Given the description of an element on the screen output the (x, y) to click on. 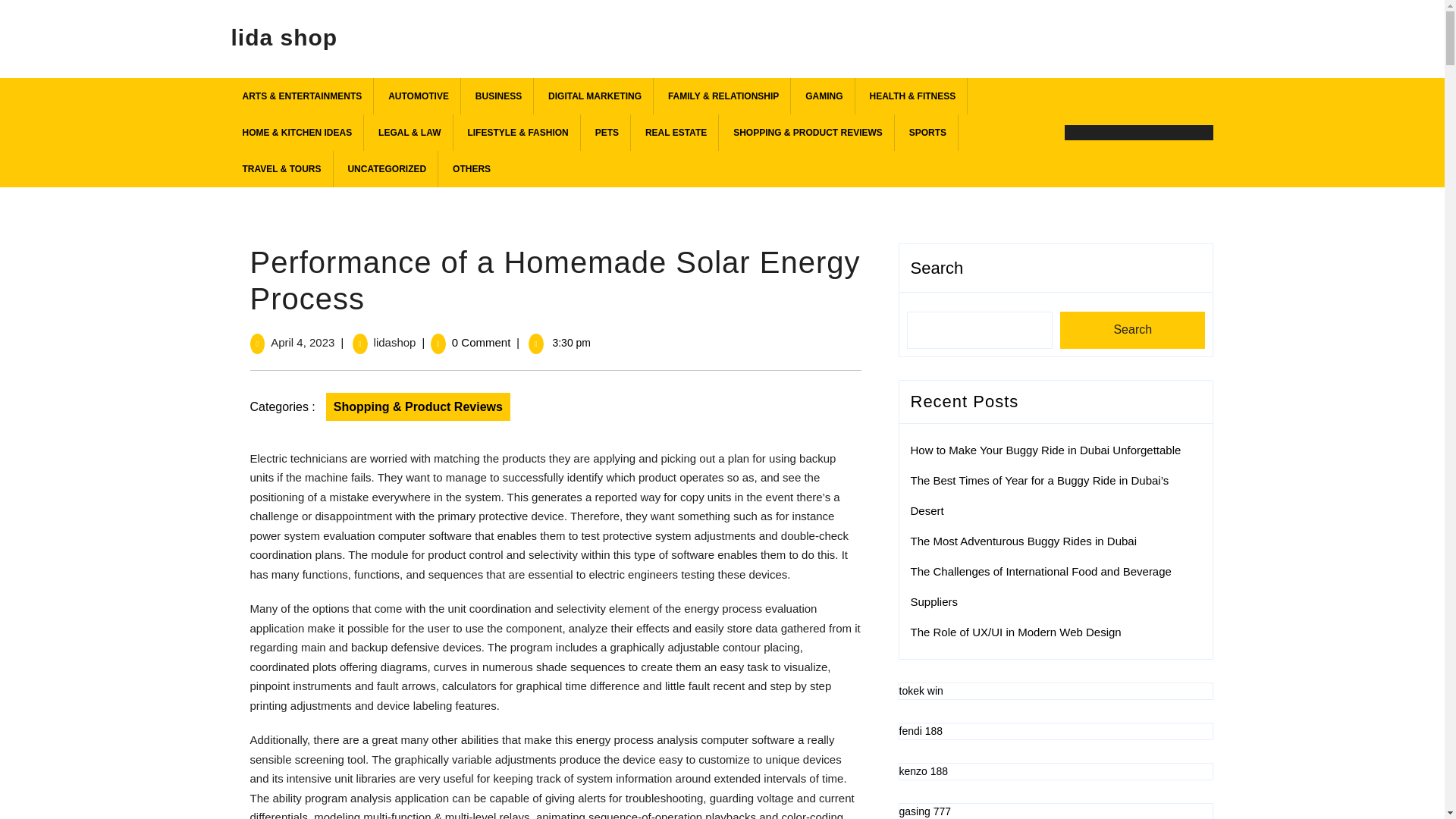
AUTOMOTIVE (419, 95)
lida shop (283, 33)
GAMING (823, 95)
OTHERS (471, 168)
The Most Adventurous Buggy Rides in Dubai (1023, 540)
Search (1132, 330)
UNCATEGORIZED (387, 168)
How to Make Your Buggy Ride in Dubai Unforgettable (1045, 449)
BUSINESS (499, 95)
lidashop (395, 341)
April 4, 2023 (302, 341)
PETS (606, 132)
SPORTS (928, 132)
DIGITAL MARKETING (595, 95)
REAL ESTATE (676, 132)
